Given the description of an element on the screen output the (x, y) to click on. 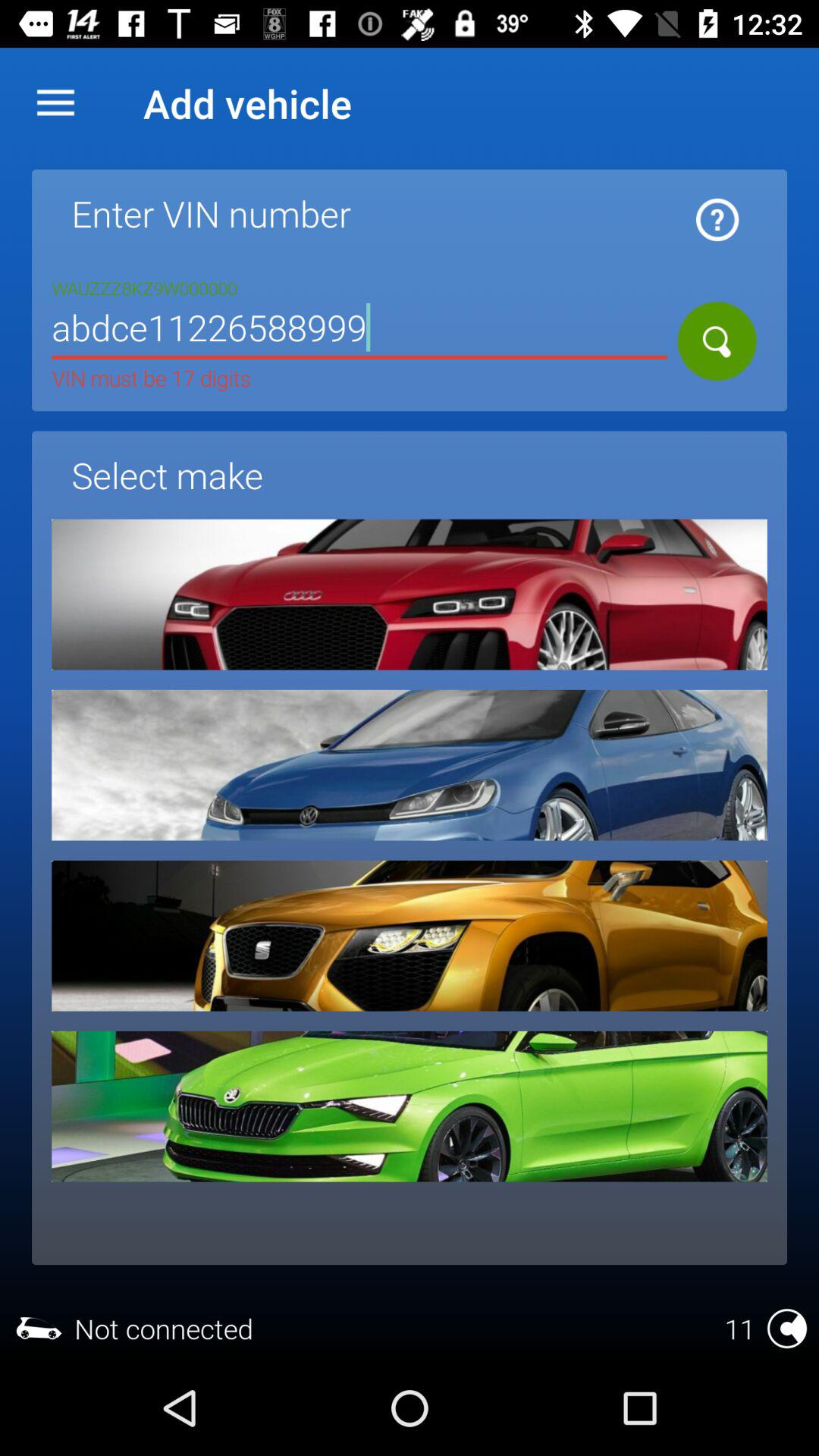
select this make (409, 594)
